Given the description of an element on the screen output the (x, y) to click on. 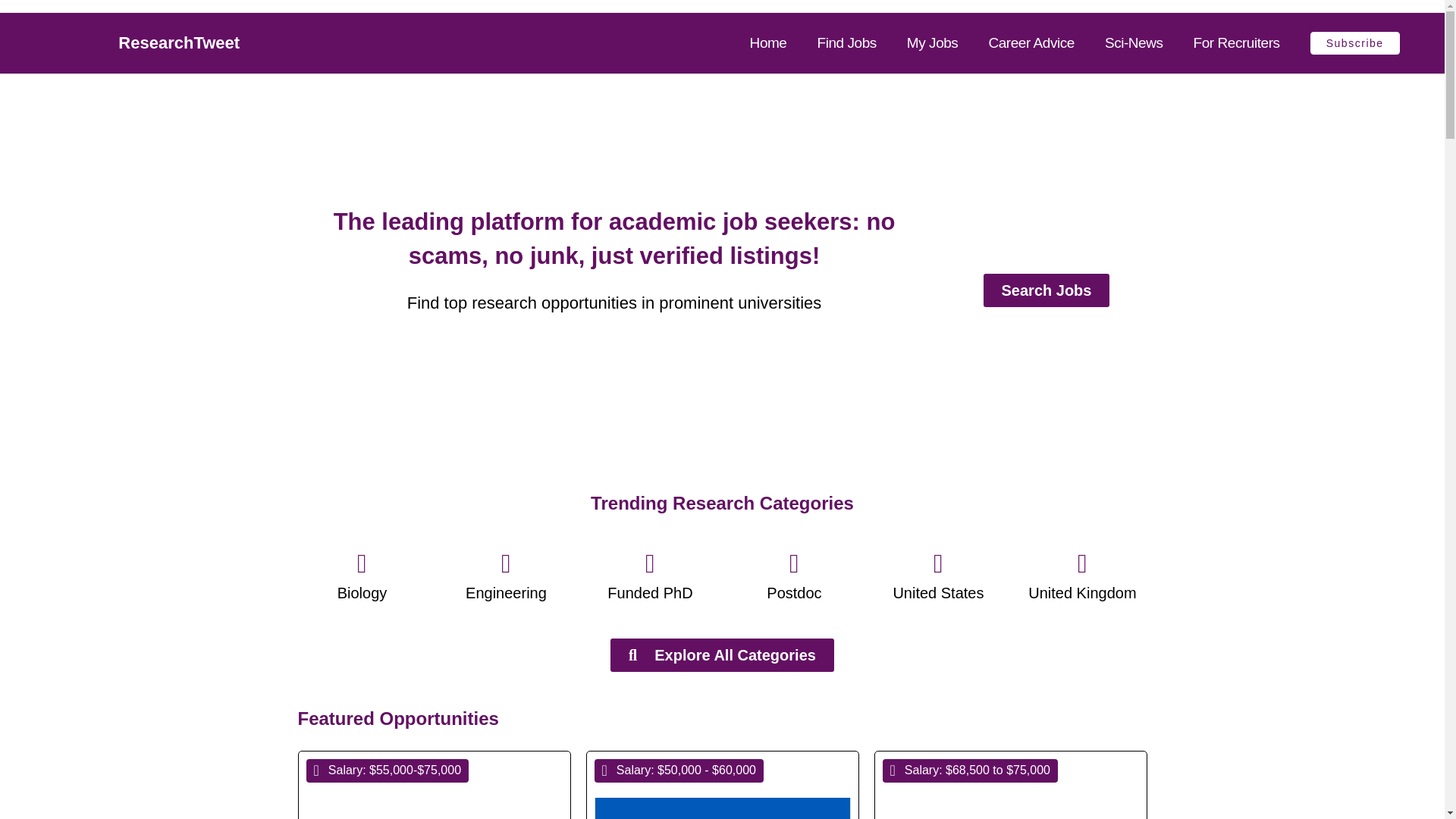
Postdoc (794, 592)
Biology (362, 592)
Find Jobs (846, 43)
United States (938, 592)
United Kingdom (1081, 592)
Subscribe (1354, 42)
Home (768, 43)
Sci-News (1134, 43)
Search Jobs (1046, 290)
Explore All Categories (722, 654)
